Given the description of an element on the screen output the (x, y) to click on. 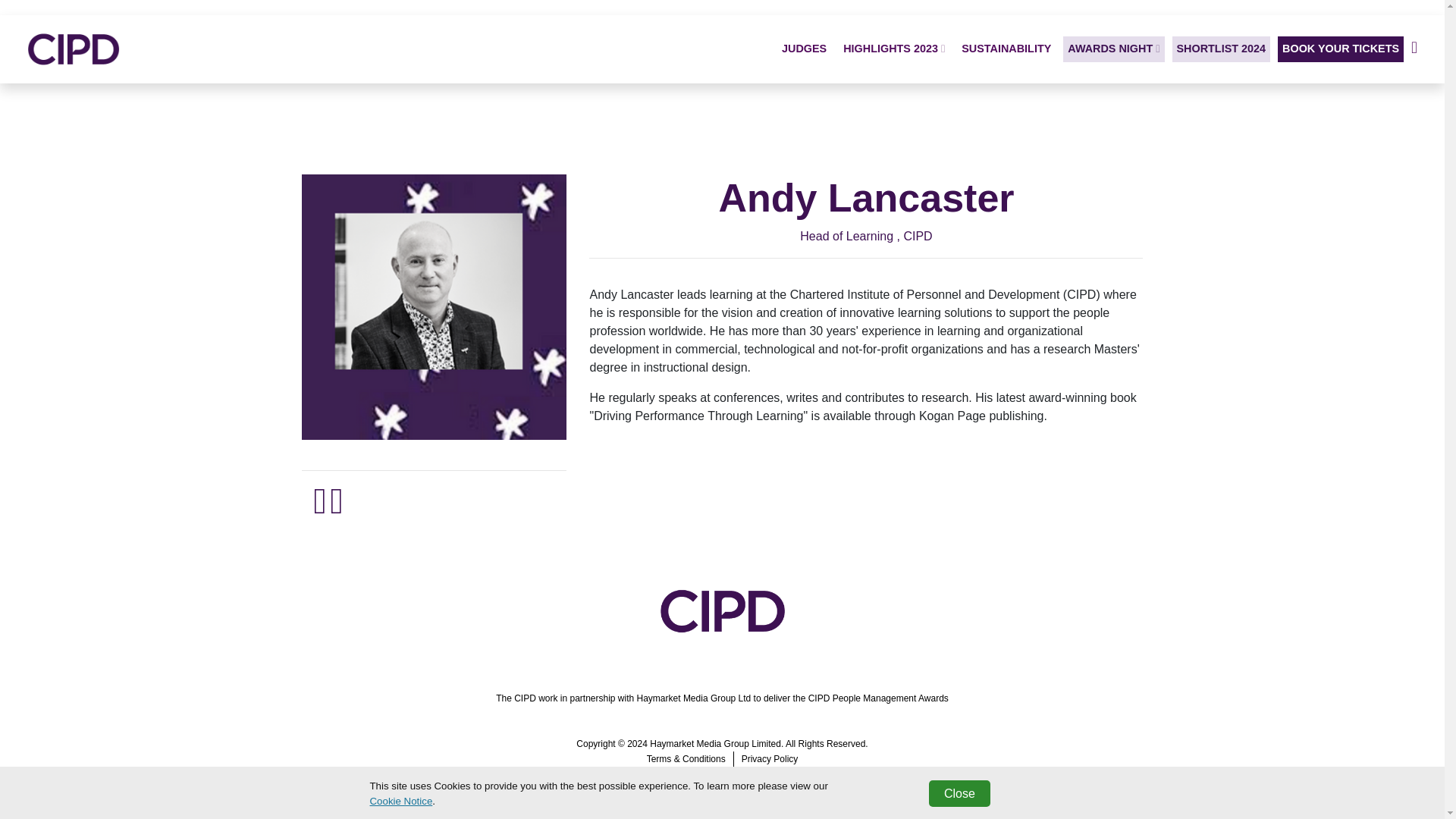
Close (959, 793)
SUSTAINABILITY (1005, 49)
HIGHLIGHTS 2023 (893, 49)
BOOK YOUR TICKETS (1340, 49)
JUDGES (804, 49)
SHORTLIST 2024 (1221, 49)
HIGHLIGHTS 2023 (893, 49)
AWARDS NIGHT (1112, 49)
JUDGES (804, 49)
BOOK YOUR TICKETS (1340, 49)
AWARDS NIGHT (1112, 49)
SHORTLIST 2024 (1221, 49)
SUSTAINABILITY (1005, 49)
Privacy Policy (769, 758)
Cookie Notice (400, 800)
